Given the description of an element on the screen output the (x, y) to click on. 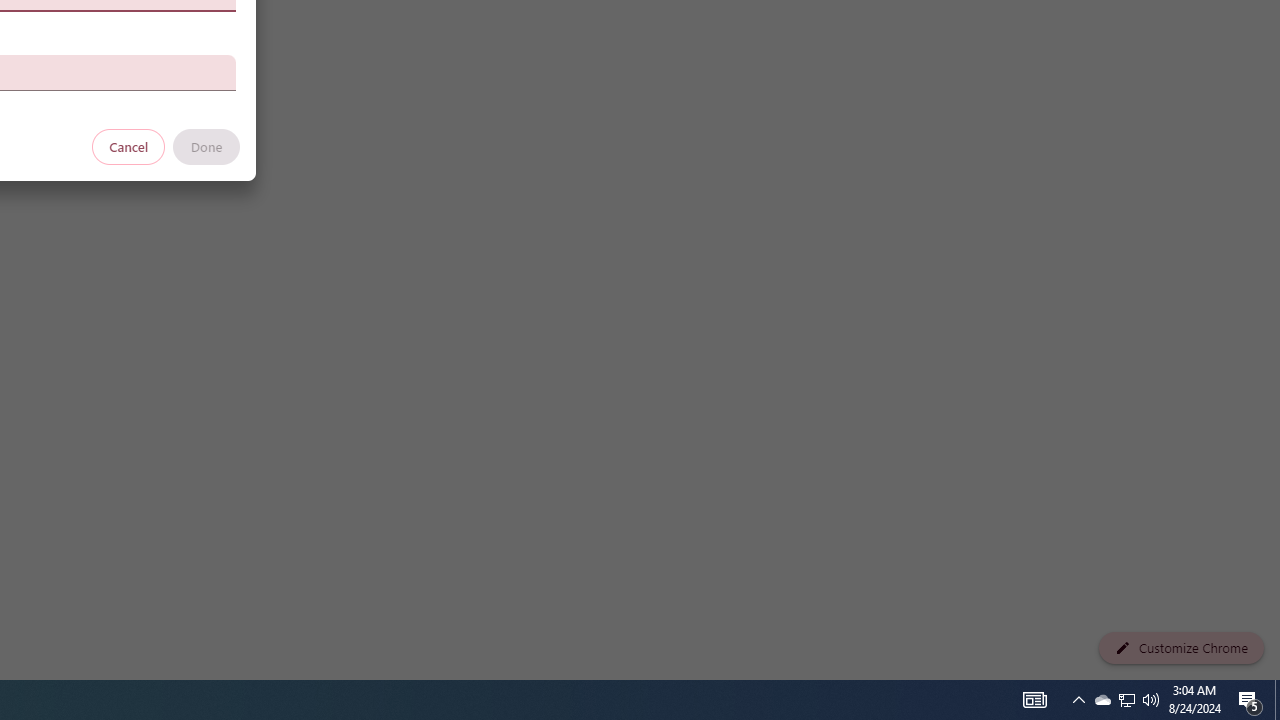
Cancel (129, 146)
Done (206, 146)
